Given the description of an element on the screen output the (x, y) to click on. 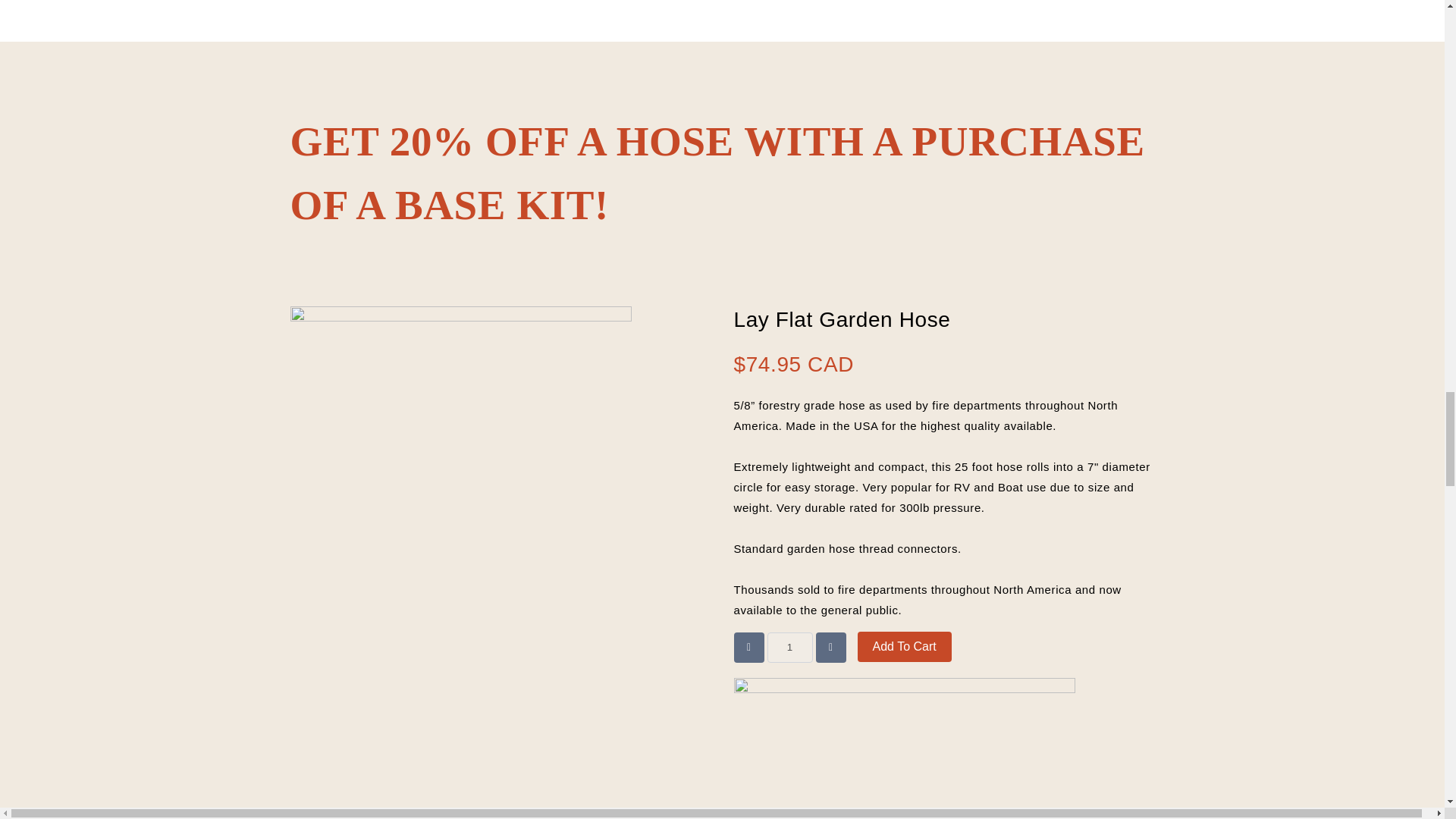
1 (789, 647)
Add To Cart (903, 646)
